Given the description of an element on the screen output the (x, y) to click on. 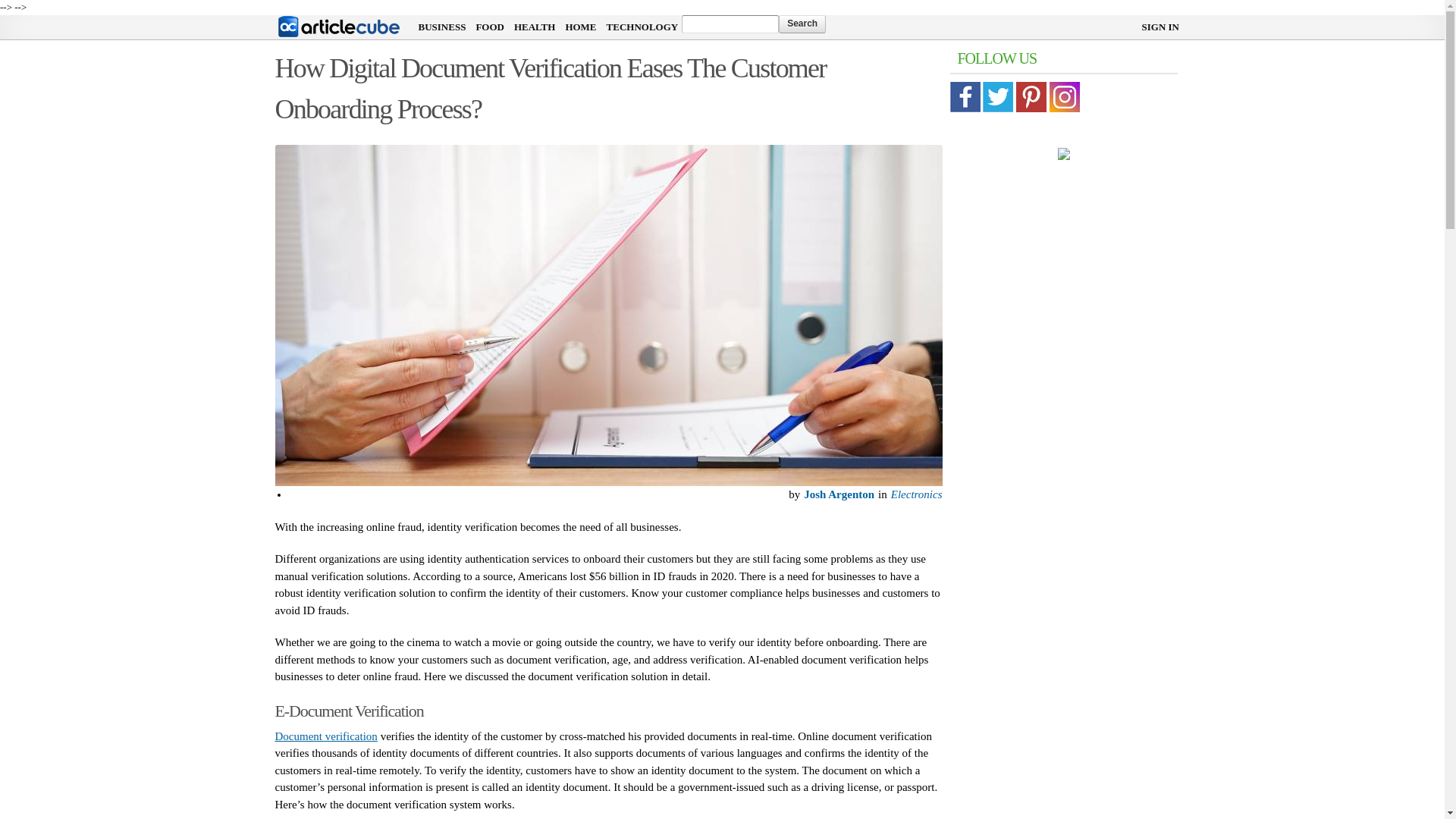
HEALTH (533, 27)
TECHNOLOGY (642, 27)
Skip to main content (686, 16)
Document verification (326, 735)
FOOD (489, 27)
SIGN IN (1160, 27)
More Options (615, 494)
Search (801, 23)
Josh Argenton (837, 494)
Electronics (914, 494)
HOME (579, 27)
Search (801, 23)
BUSINESS (442, 27)
